Given the description of an element on the screen output the (x, y) to click on. 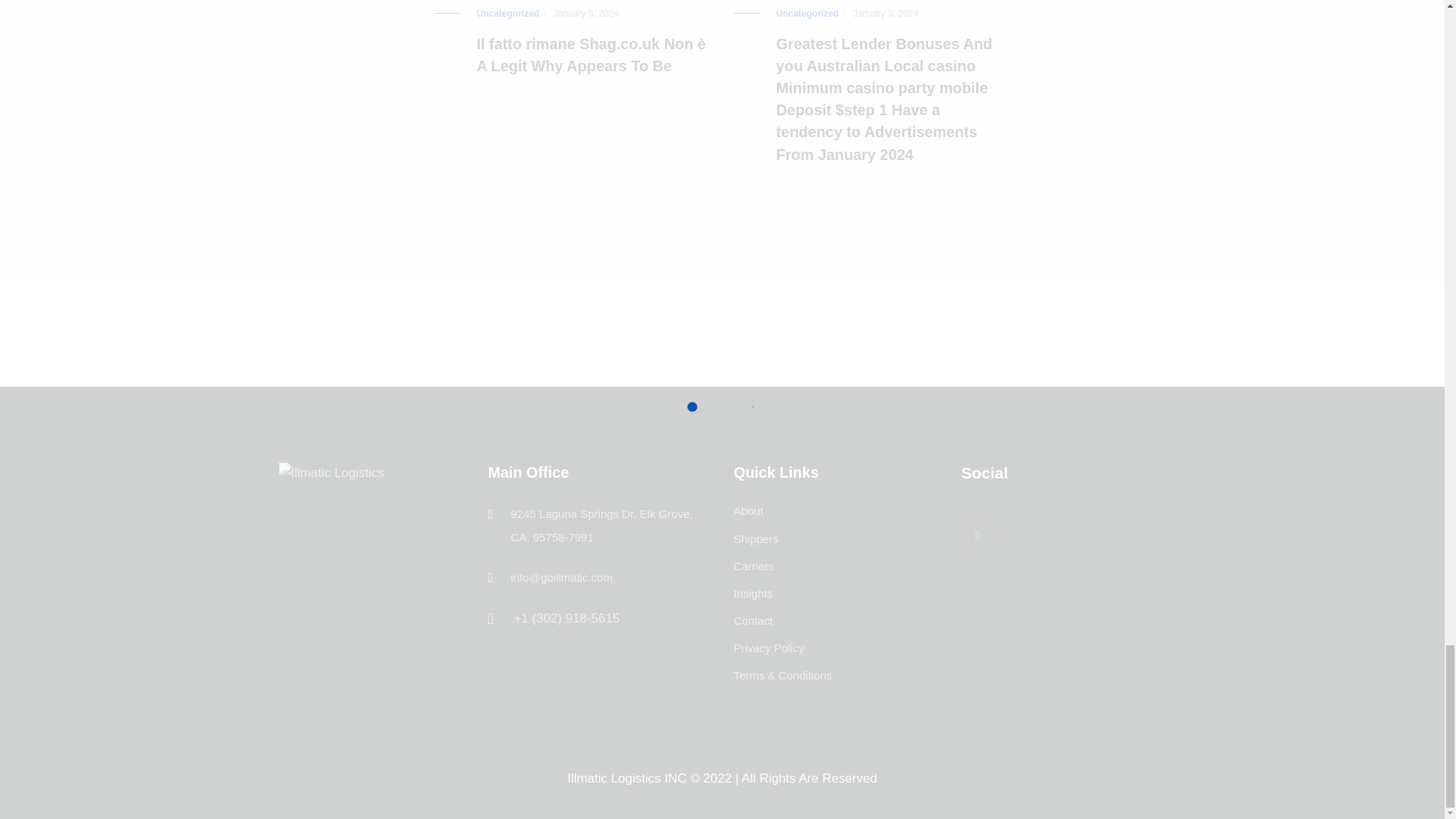
January 3, 2024 (585, 13)
Uncategorized (507, 13)
